Given the description of an element on the screen output the (x, y) to click on. 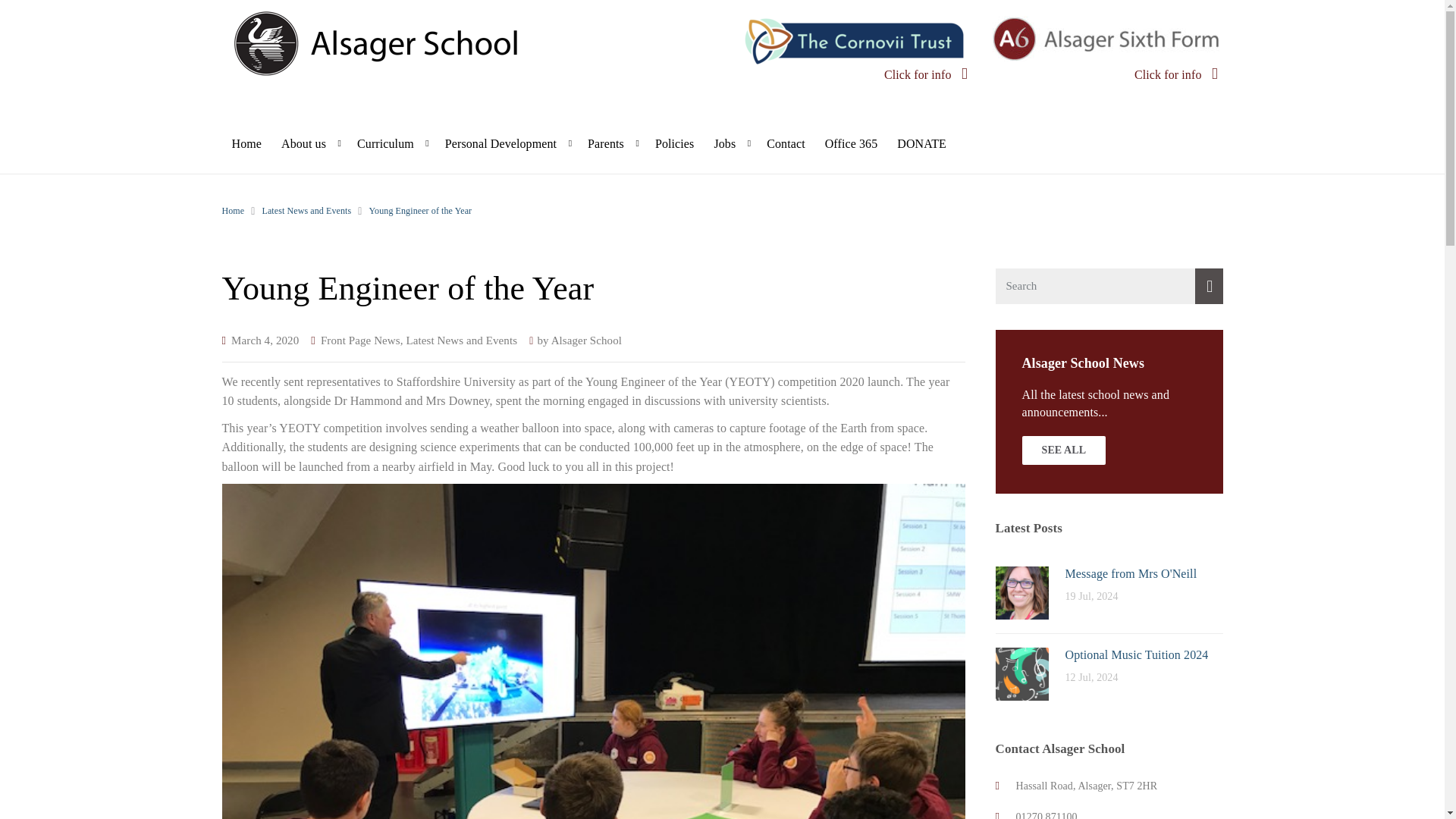
View all posts by Alsager School (586, 340)
Optional Music Tuition 2024 (1021, 673)
Permalink to Young Engineer of the Year (264, 340)
Message from Mrs O'Neill (1130, 573)
Optional Music Tuition 2024 (1136, 654)
Message from Mrs O'Neill (1021, 591)
